Given the description of an element on the screen output the (x, y) to click on. 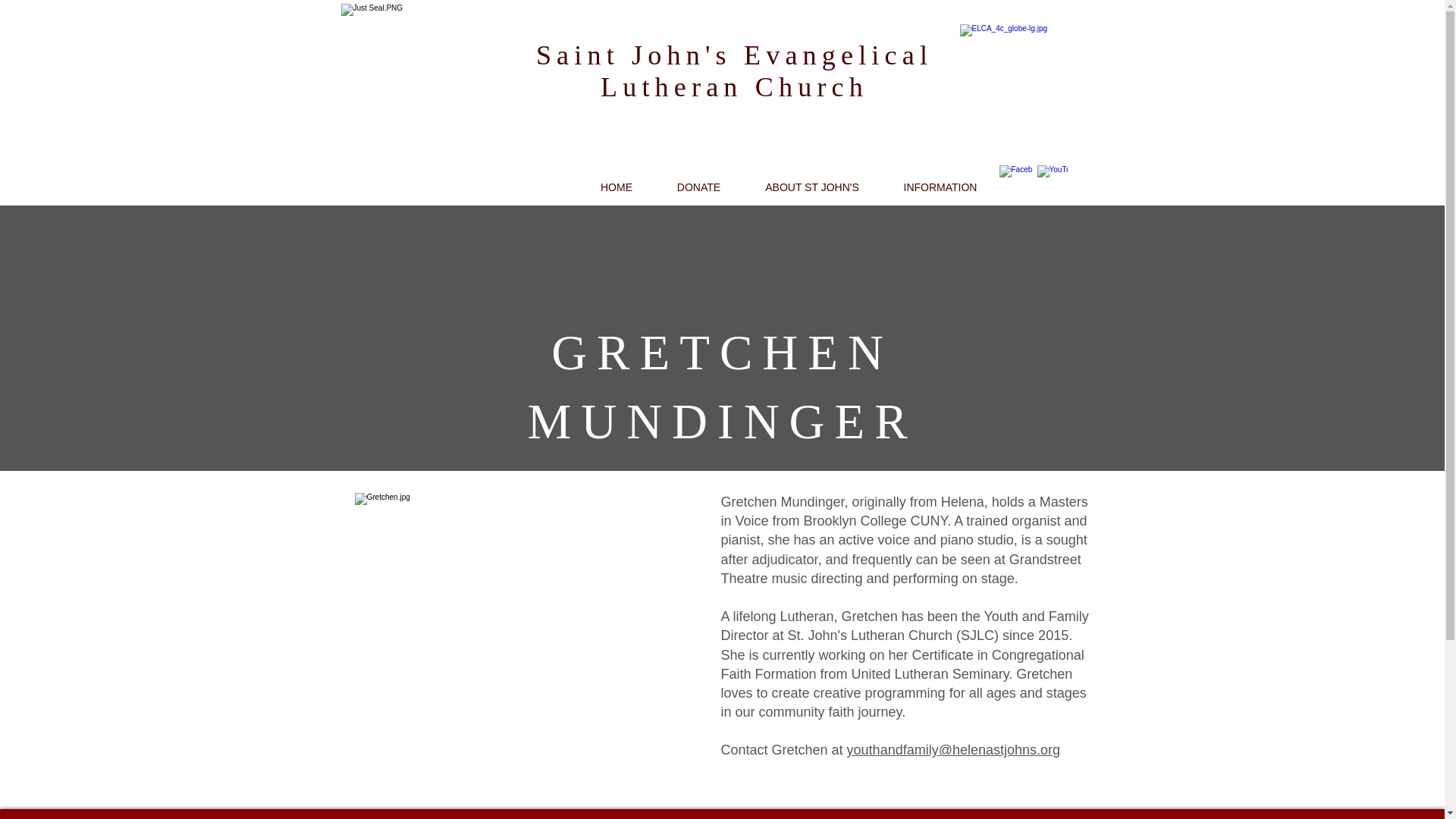
INFORMATION (939, 187)
DONATE (698, 187)
HOME (615, 187)
ABOUT ST JOHN'S (812, 187)
Saint John's Evangelical Lutheran Church (734, 71)
